Given the description of an element on the screen output the (x, y) to click on. 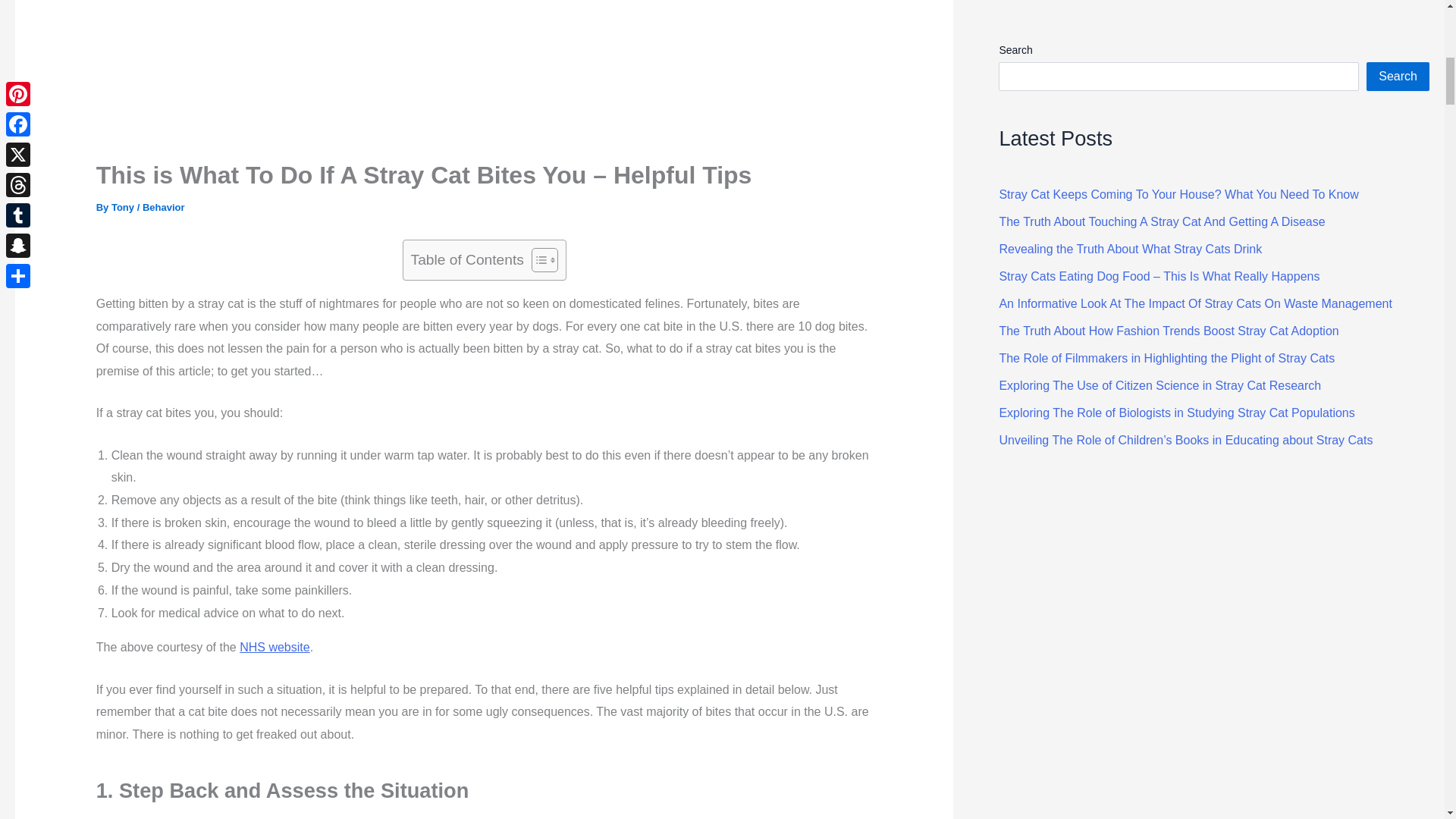
Tony (124, 206)
View all posts by Tony (124, 206)
Advertisement (484, 74)
Behavior (163, 206)
